Given the description of an element on the screen output the (x, y) to click on. 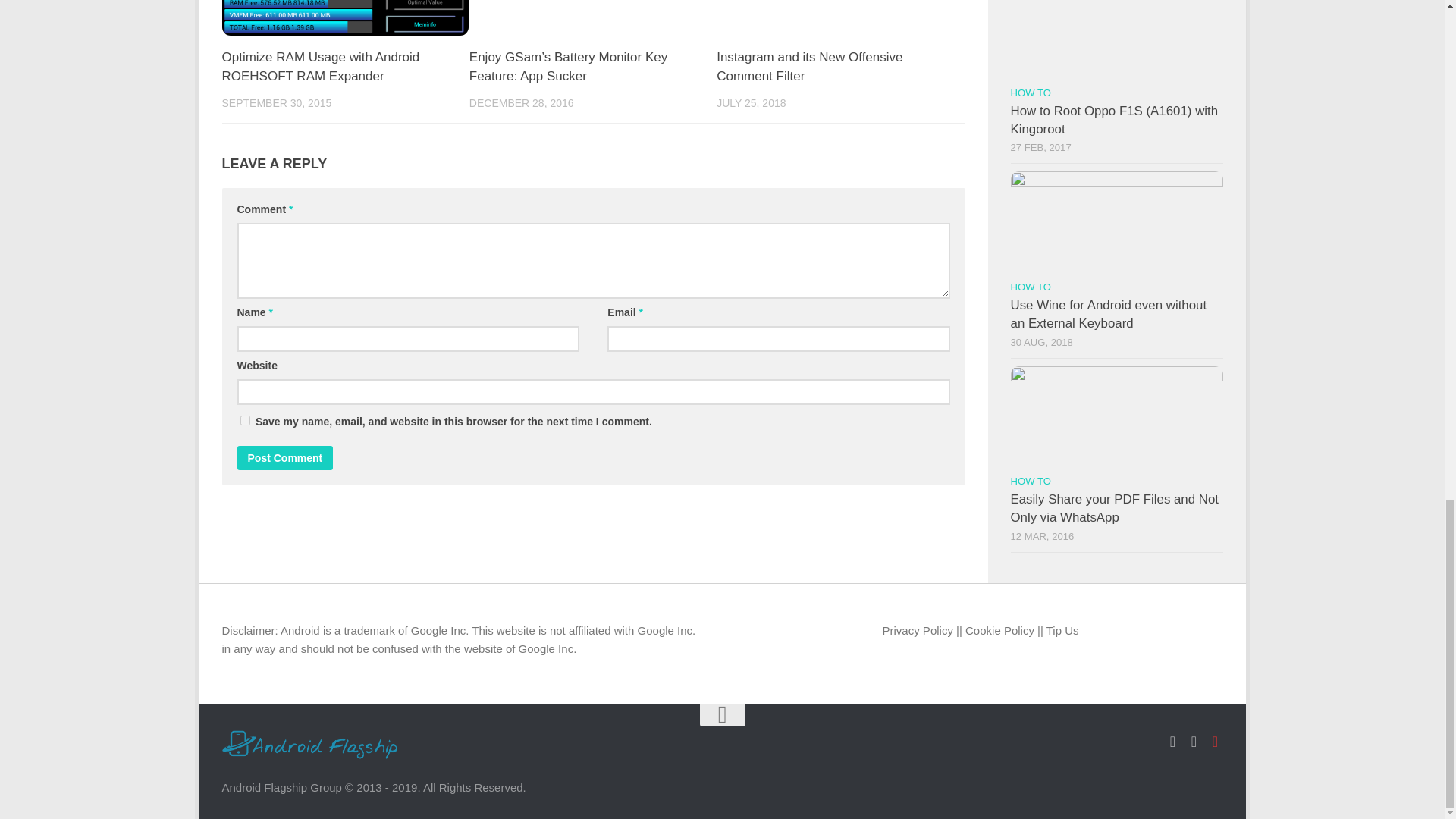
Instagram and its New Offensive Comment Filter (809, 66)
Optimize RAM Usage with Android ROEHSOFT RAM Expander (320, 66)
yes (244, 420)
Permalink to Instagram and its New Offensive Comment Filter (809, 66)
Post Comment (284, 457)
Post Comment (284, 457)
